Given the description of an element on the screen output the (x, y) to click on. 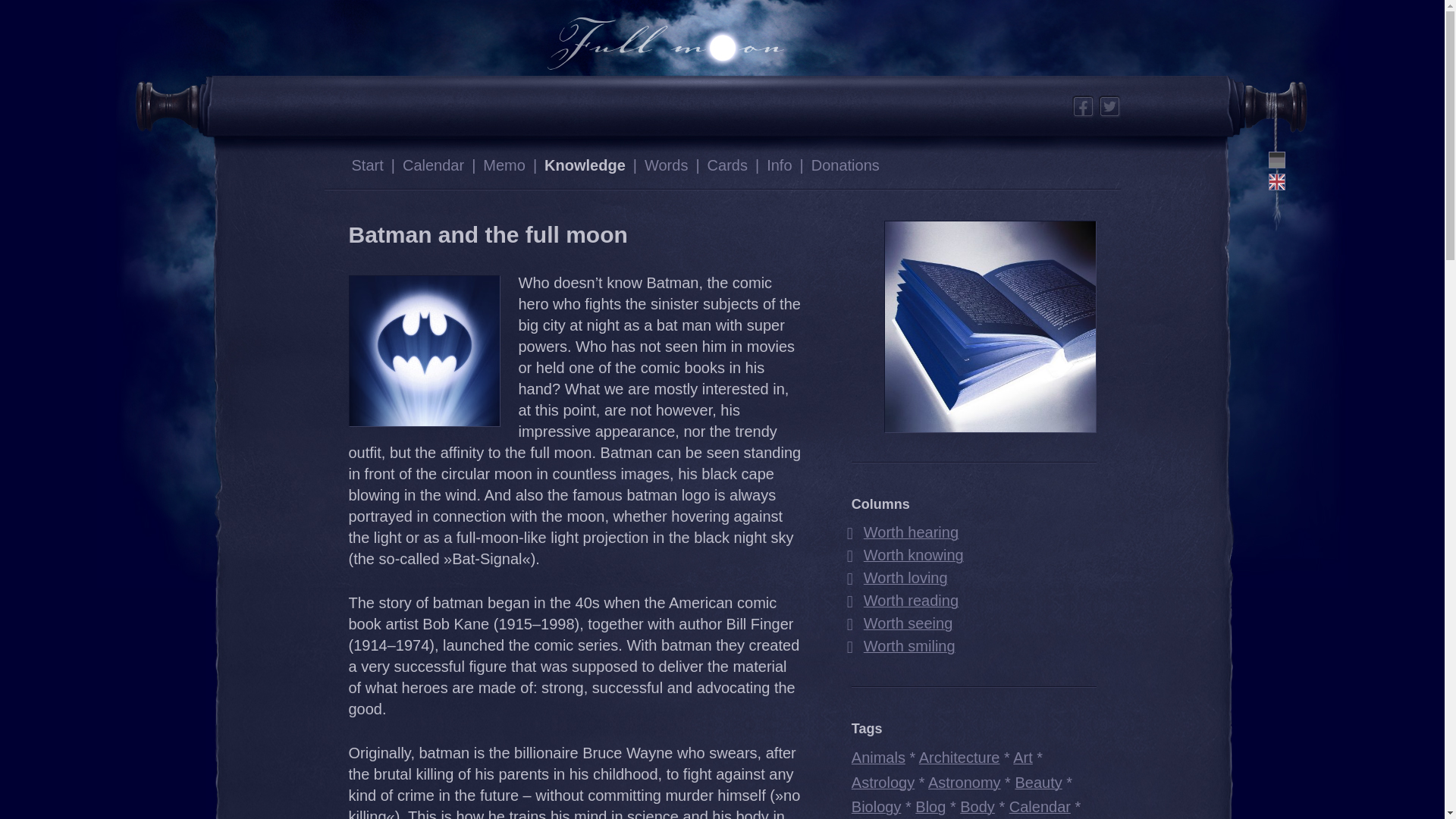
Memo (504, 165)
Architecture (959, 757)
Biology (876, 806)
Twitter (1108, 106)
Animals (878, 757)
Astrology (882, 781)
Worth seeing (899, 622)
Worth reading (902, 599)
Astronomy (964, 781)
Worth hearing (902, 531)
